Given the description of an element on the screen output the (x, y) to click on. 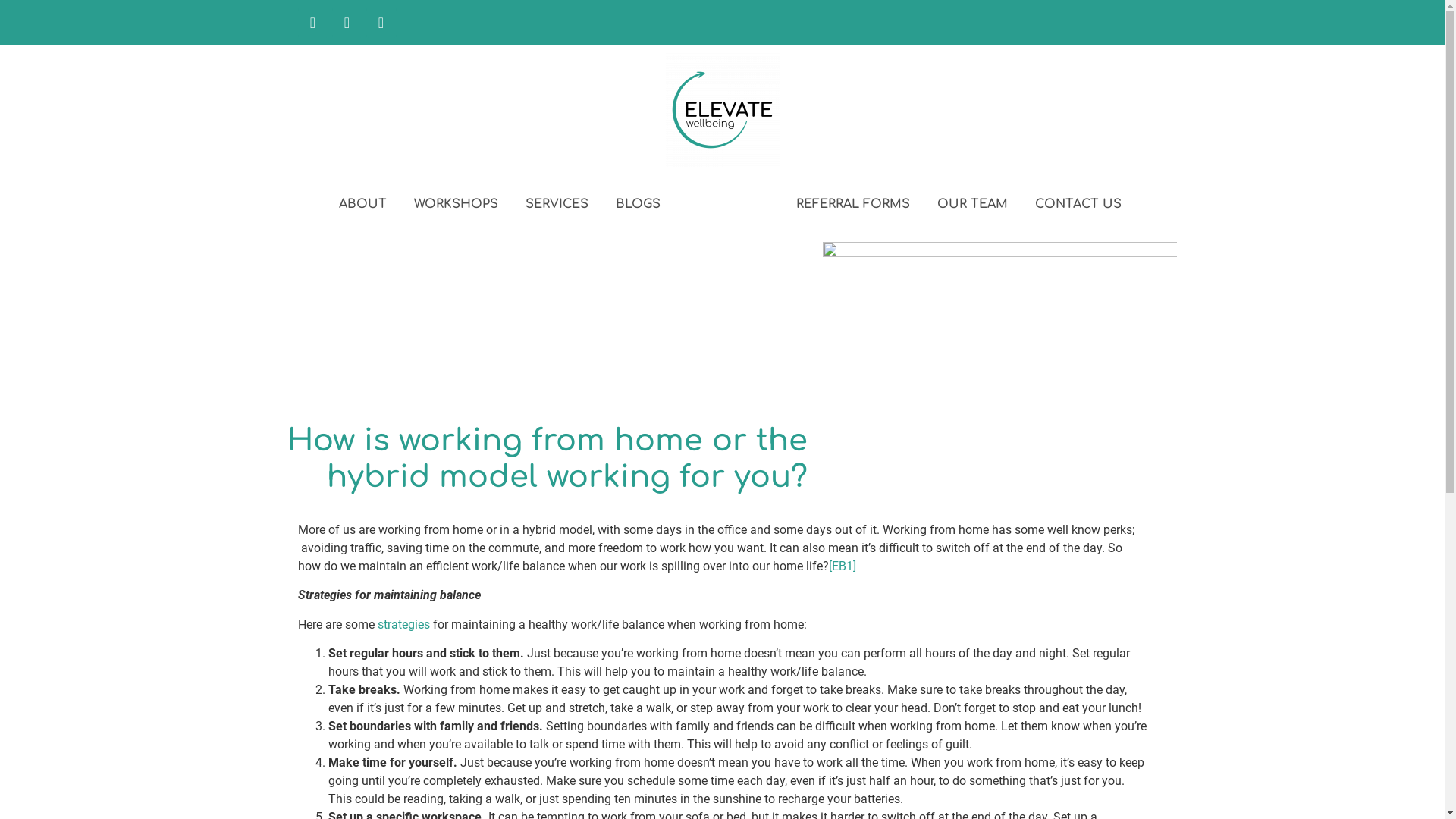
BLOGS Element type: text (638, 204)
ABOUT Element type: text (362, 204)
WORKSHOPS Element type: text (455, 204)
[EB1] Element type: text (841, 565)
CONTACT US Element type: text (1078, 204)
strategies Element type: text (403, 624)
OUR TEAM Element type: text (972, 204)
REFERRAL FORMS Element type: text (852, 204)
SERVICES Element type: text (556, 204)
